Given the description of an element on the screen output the (x, y) to click on. 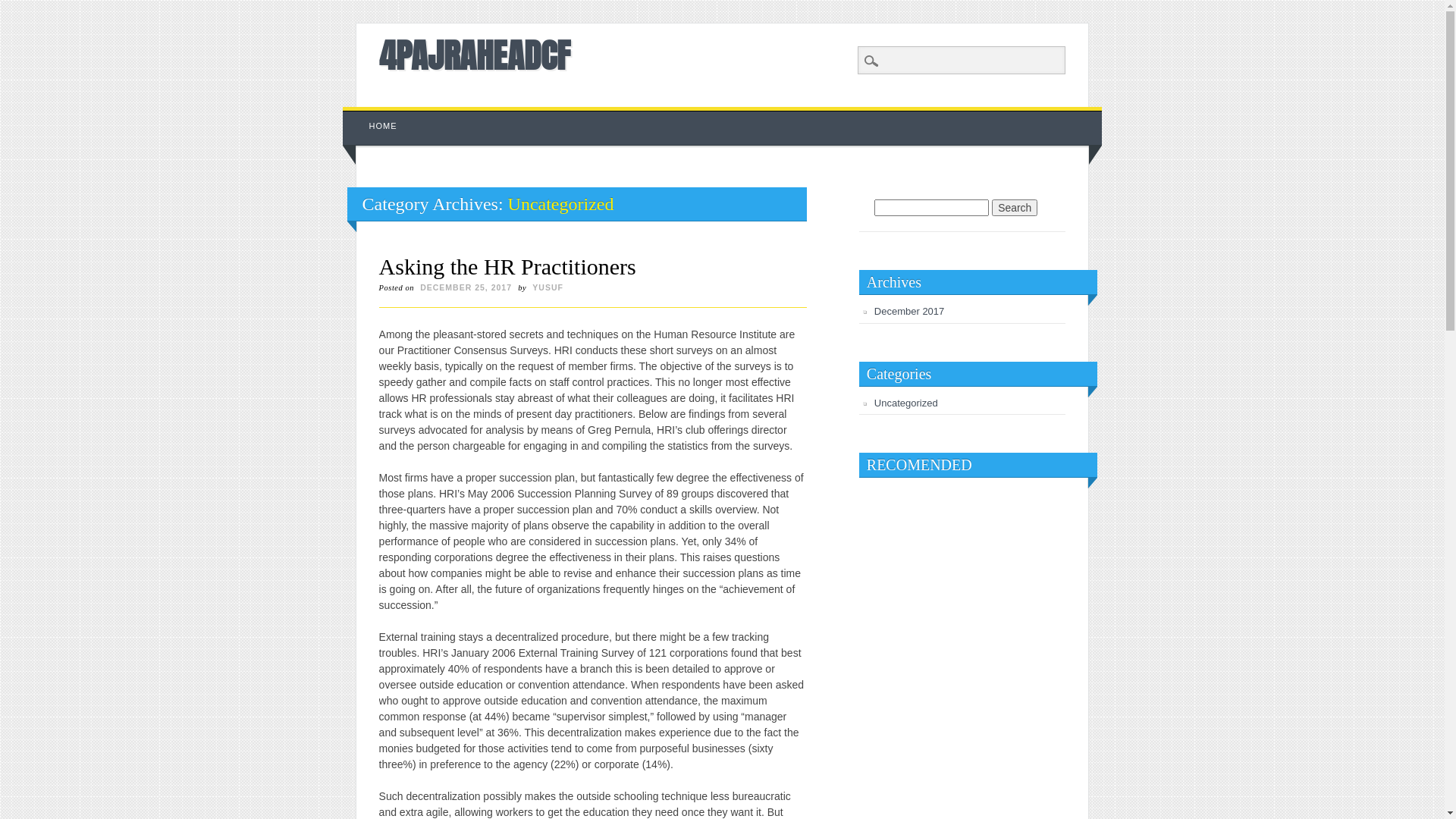
4PAJRAHEADCF Element type: text (474, 55)
December 2017 Element type: text (909, 310)
HOME Element type: text (383, 125)
Search Element type: text (22, 8)
Uncategorized Element type: text (906, 402)
DECEMBER 25, 2017 Element type: text (465, 286)
YUSUF Element type: text (547, 286)
Skip to content Element type: text (377, 114)
Search Element type: text (1014, 207)
Asking the HR Practitioners Element type: text (507, 266)
